Given the description of an element on the screen output the (x, y) to click on. 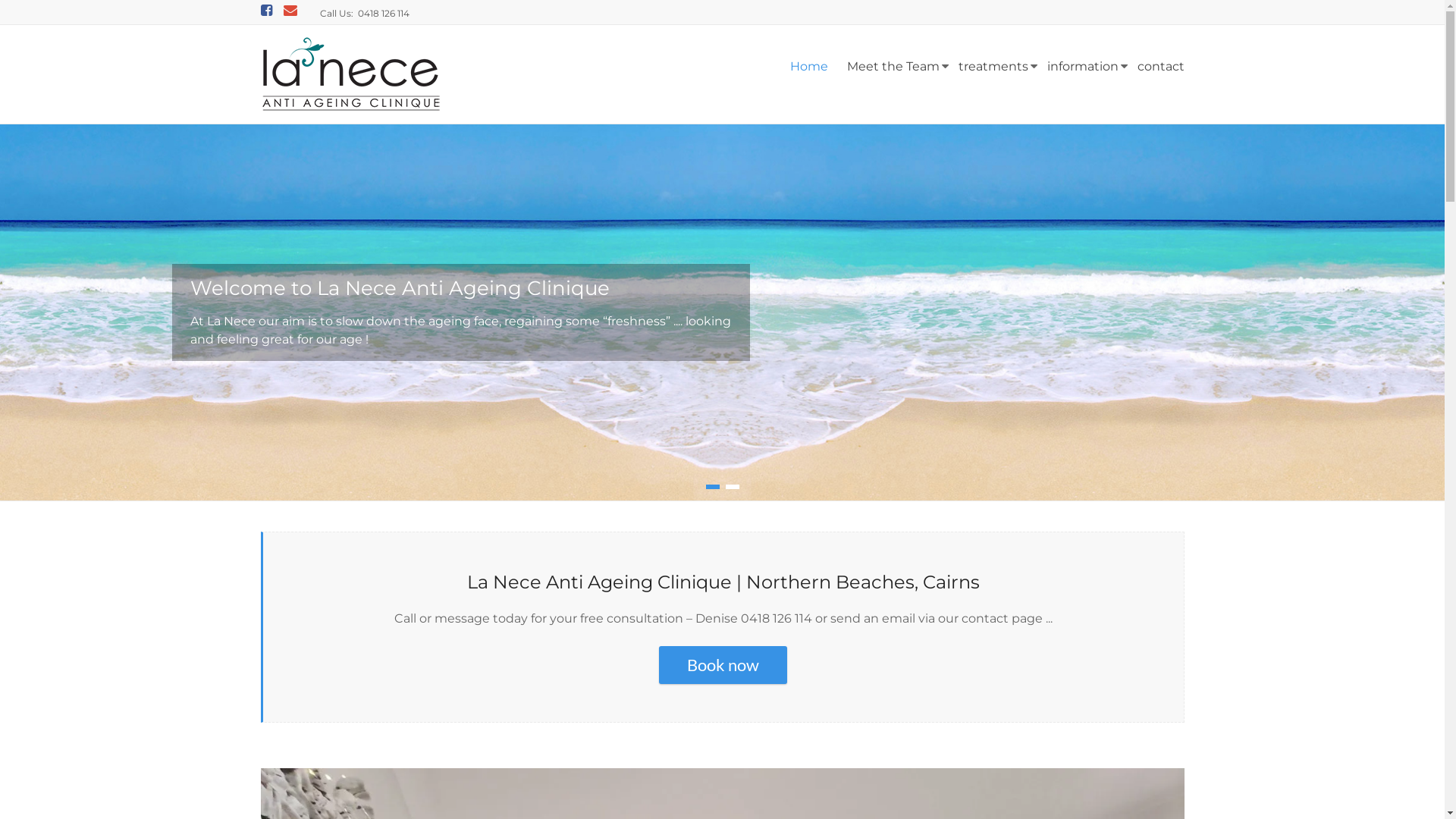
Book now Element type: text (722, 665)
Meet the Team Element type: text (892, 66)
contact Element type: text (1160, 66)
La Nece Anti Ageing Clinique Northern Beaches, Cairns Element type: text (322, 160)
Home Element type: text (809, 66)
treatments Element type: text (993, 66)
Welcome to La Nece Anti Ageing Clinique Element type: hover (722, 131)
information Element type: text (1081, 66)
Welcome to La Nece Anti Ageing Clinique Element type: text (399, 288)
